Given the description of an element on the screen output the (x, y) to click on. 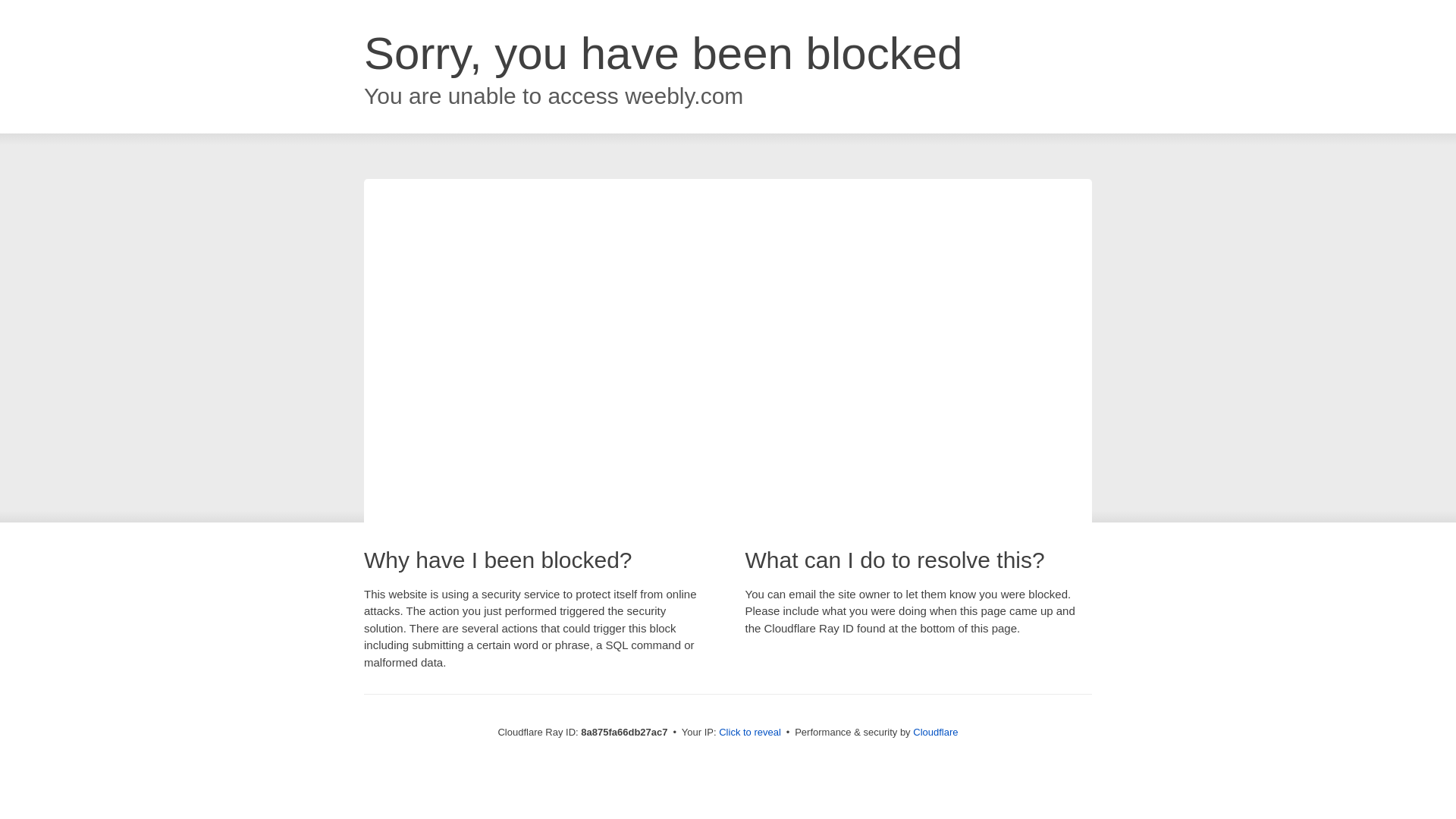
Click to reveal (749, 732)
Cloudflare (935, 731)
